Given the description of an element on the screen output the (x, y) to click on. 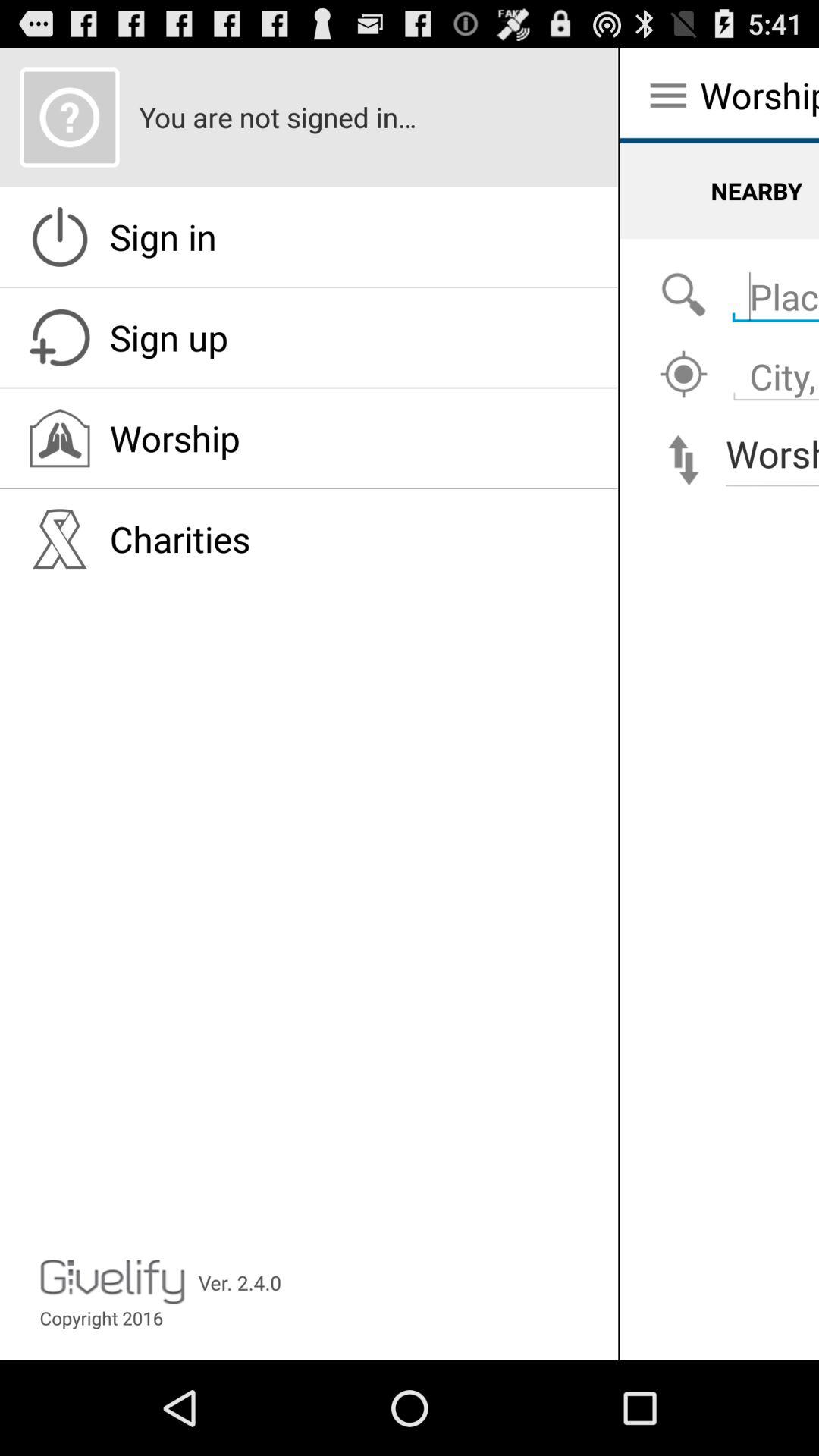
select the icon below the nearby icon (683, 295)
